Given the description of an element on the screen output the (x, y) to click on. 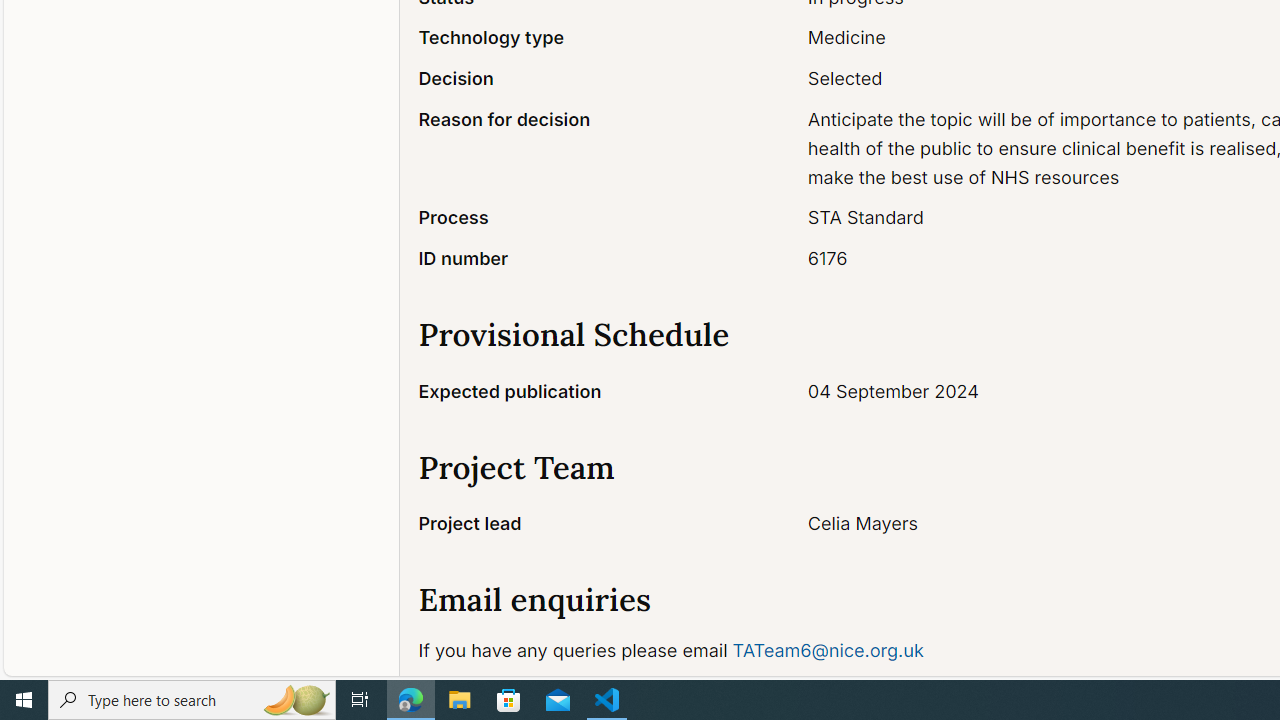
TATeam6@nice.org.uk (828, 649)
